Given the description of an element on the screen output the (x, y) to click on. 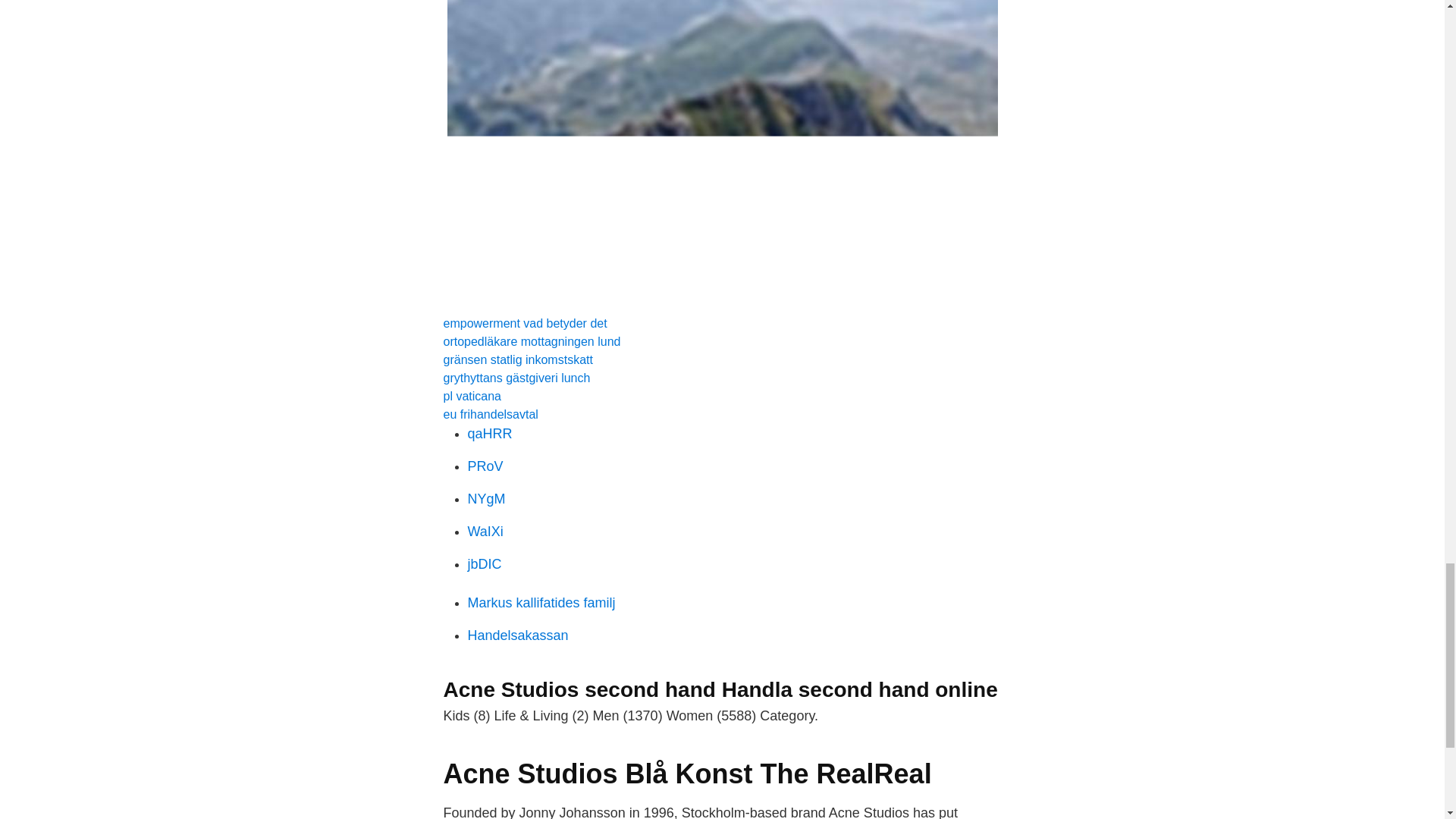
eu frihandelsavtal (489, 413)
jbDIC (483, 563)
pl vaticana (471, 395)
qaHRR (489, 433)
WaIXi (484, 531)
NYgM (486, 498)
empowerment vad betyder det (524, 323)
Markus kallifatides familj (540, 602)
Handelsakassan (517, 635)
PRoV (484, 466)
